Given the description of an element on the screen output the (x, y) to click on. 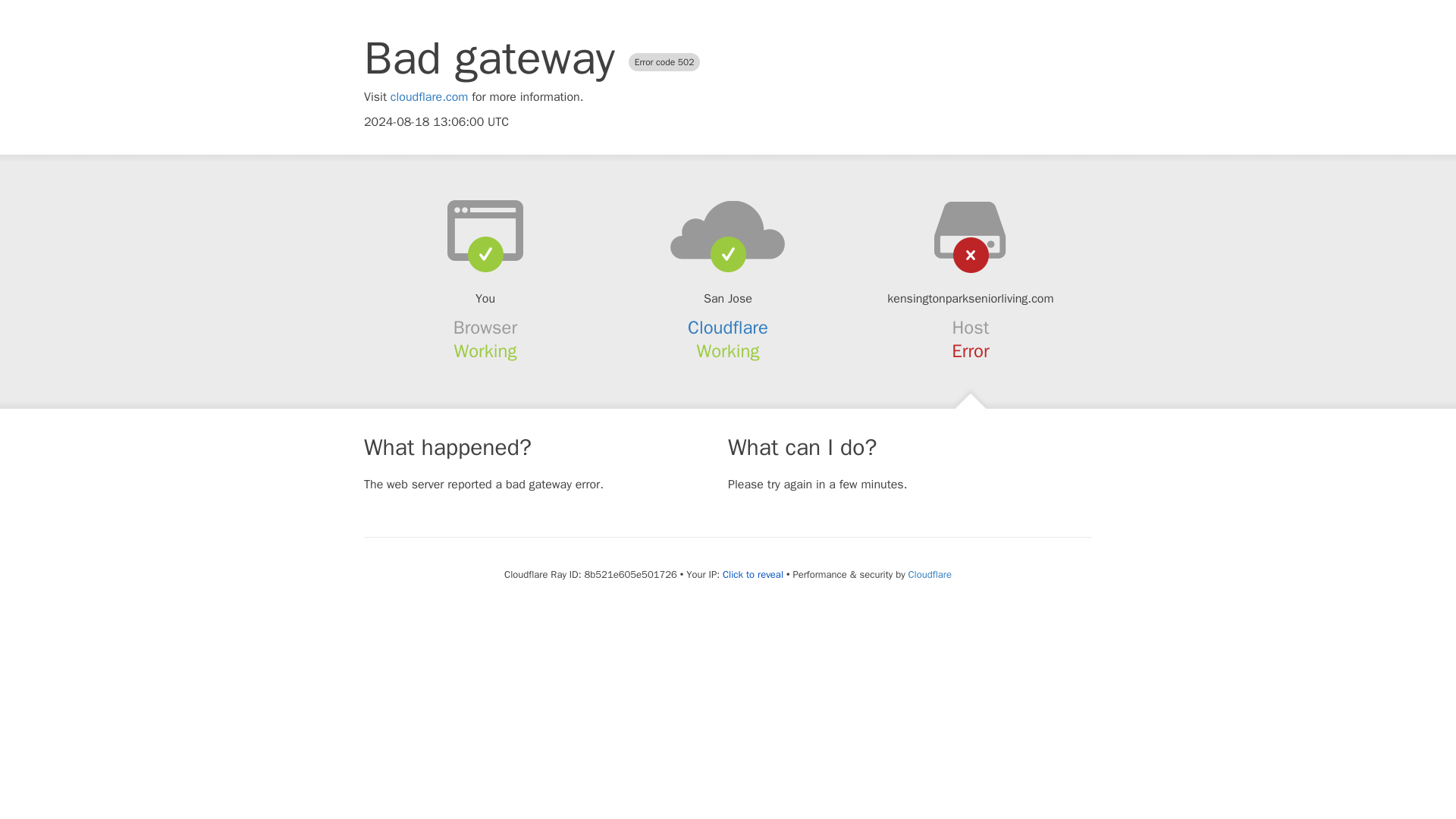
Click to reveal (752, 574)
Cloudflare (727, 327)
cloudflare.com (429, 96)
Cloudflare (930, 574)
